Given the description of an element on the screen output the (x, y) to click on. 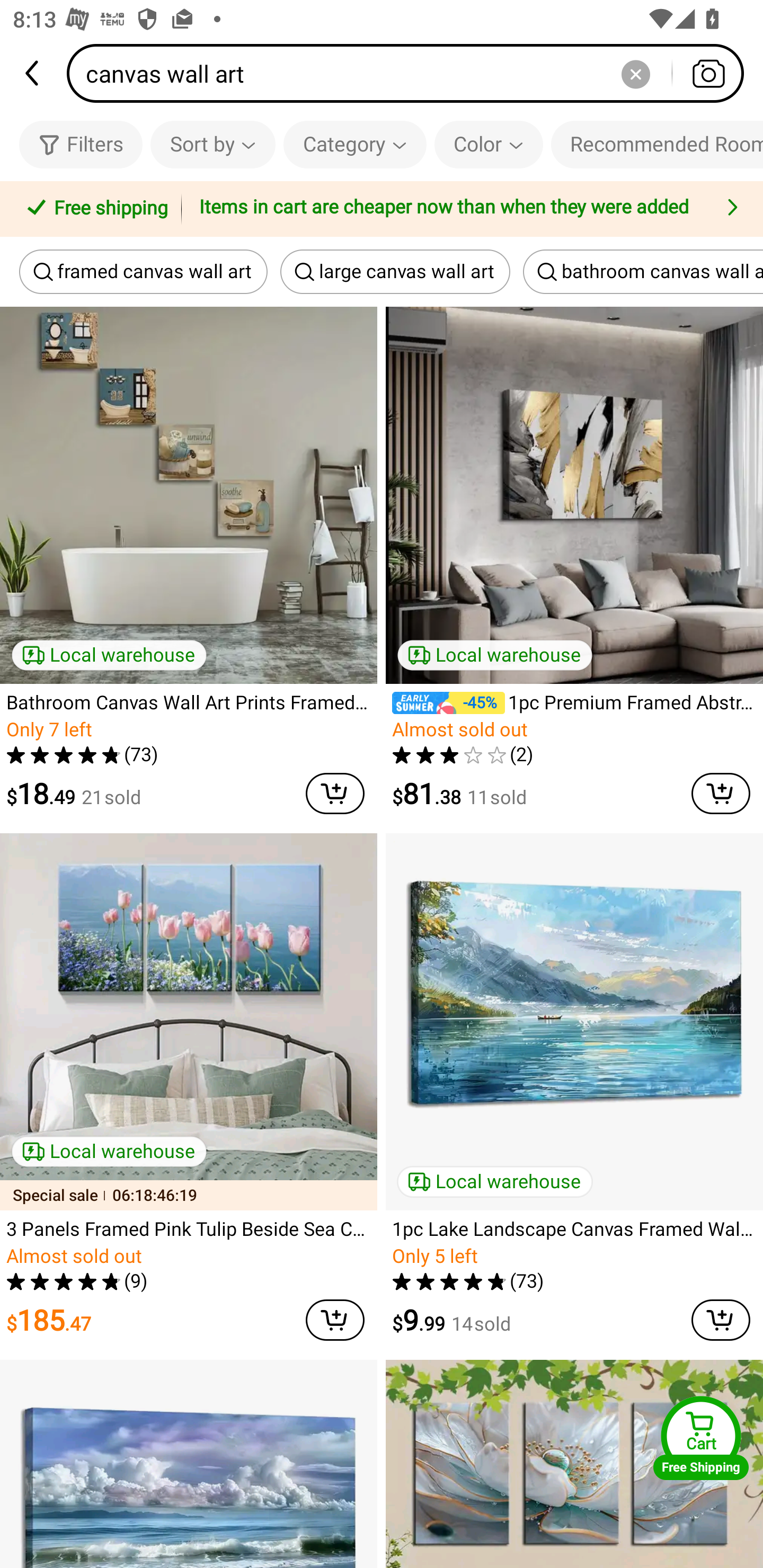
back (33, 72)
canvas wall art (411, 73)
Delete search history (635, 73)
Search by photo (708, 73)
Filters (80, 143)
Sort by (212, 143)
Category (354, 143)
Color (488, 143)
Recommended Room (656, 143)
 Free shipping (93, 208)
framed canvas wall art (143, 271)
large canvas wall art (395, 271)
bathroom canvas wall art (642, 271)
Cart Free Shipping Cart (701, 1437)
